Given the description of an element on the screen output the (x, y) to click on. 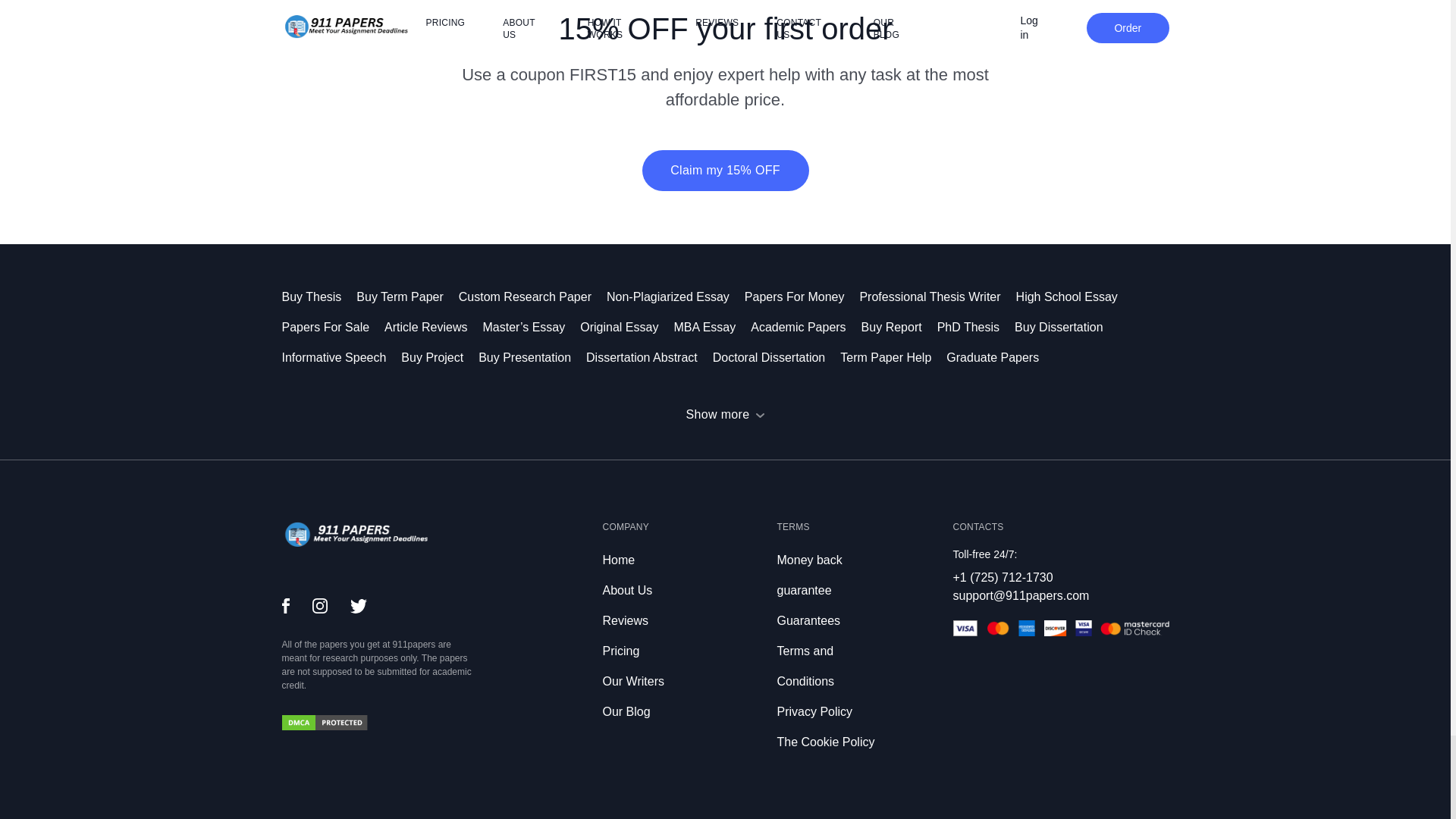
Professional Thesis Writer (936, 296)
Non-Plagiarized Essay (675, 296)
Original Essay (625, 327)
MBA Essay (711, 327)
Academic Papers (805, 327)
Article Reviews (432, 327)
Custom Research Paper (532, 296)
High School Essay (1074, 296)
Buy Thesis (319, 296)
Papers For Money (802, 296)
